Given the description of an element on the screen output the (x, y) to click on. 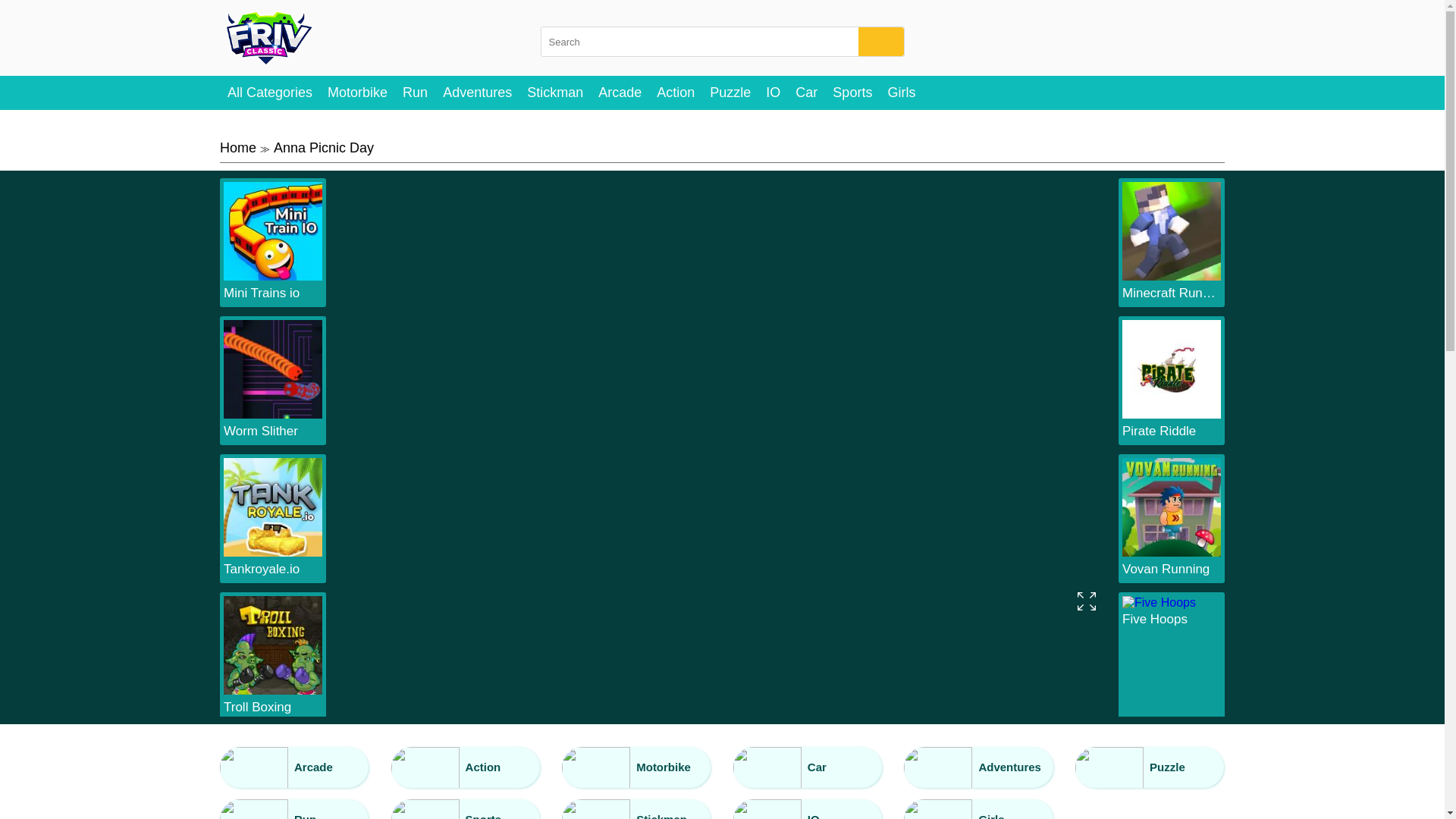
Puzzle (729, 92)
Run (414, 92)
Puzzle (729, 92)
Worm Slither (272, 413)
Arcade (293, 766)
Tankroyale.io (272, 569)
Mini Trains io (272, 293)
All category (269, 92)
Motorbike (357, 92)
Car (806, 92)
Run (414, 92)
Troll Boxing (272, 707)
Motorbike (357, 92)
Action (675, 92)
Action (675, 92)
